Given the description of an element on the screen output the (x, y) to click on. 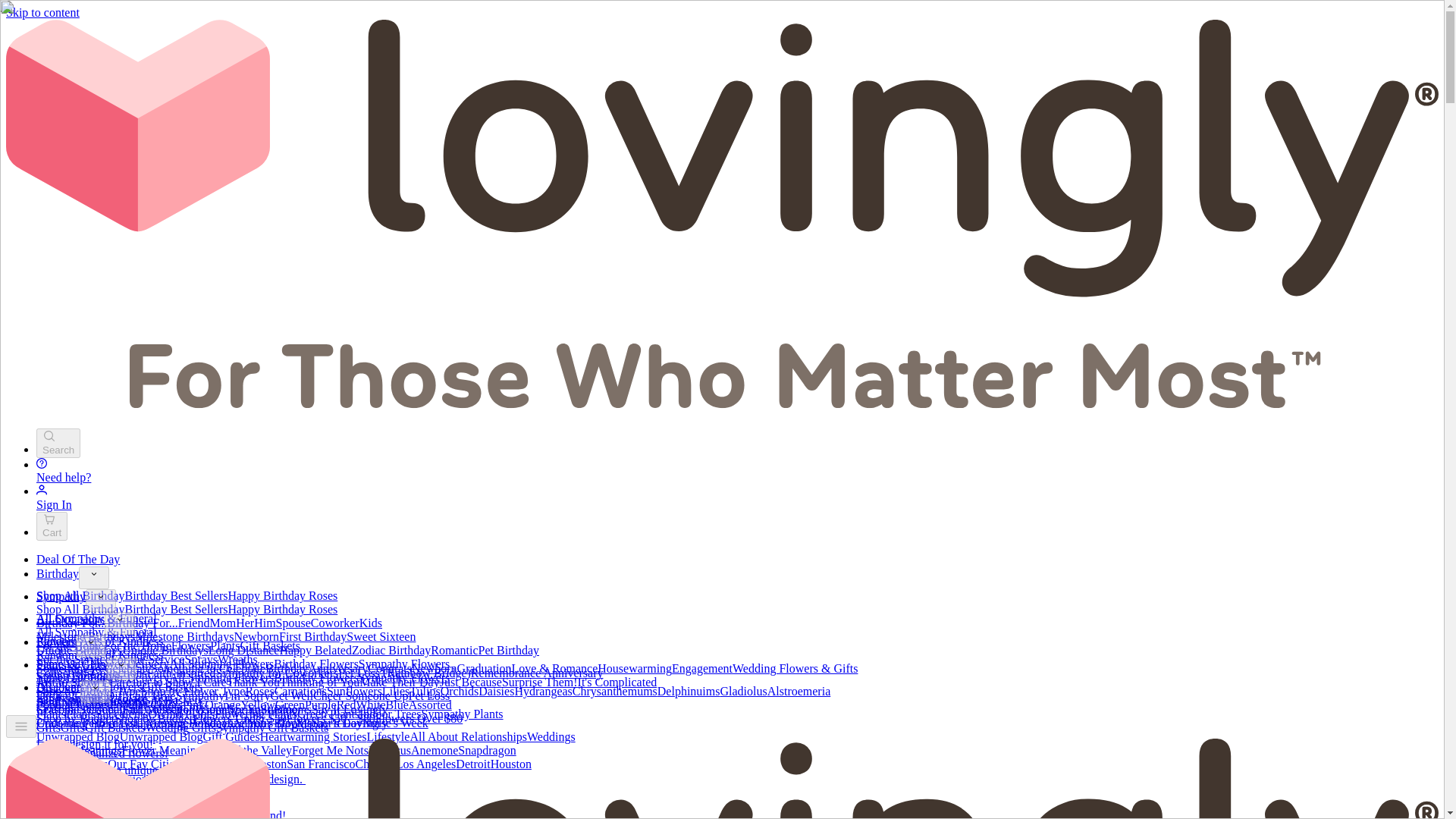
Shop All Birthday (79, 594)
Spouse (293, 622)
Long Distance (243, 649)
Birthday For... (71, 622)
Mom (222, 622)
Him (264, 622)
Friend (193, 622)
Newborn (255, 635)
Deal Of The Day (77, 558)
Shop All Birthday (79, 608)
Unique Birthdays (79, 649)
Happy Belated (315, 649)
Birthday (57, 573)
Search (58, 442)
Her (244, 622)
